Given the description of an element on the screen output the (x, y) to click on. 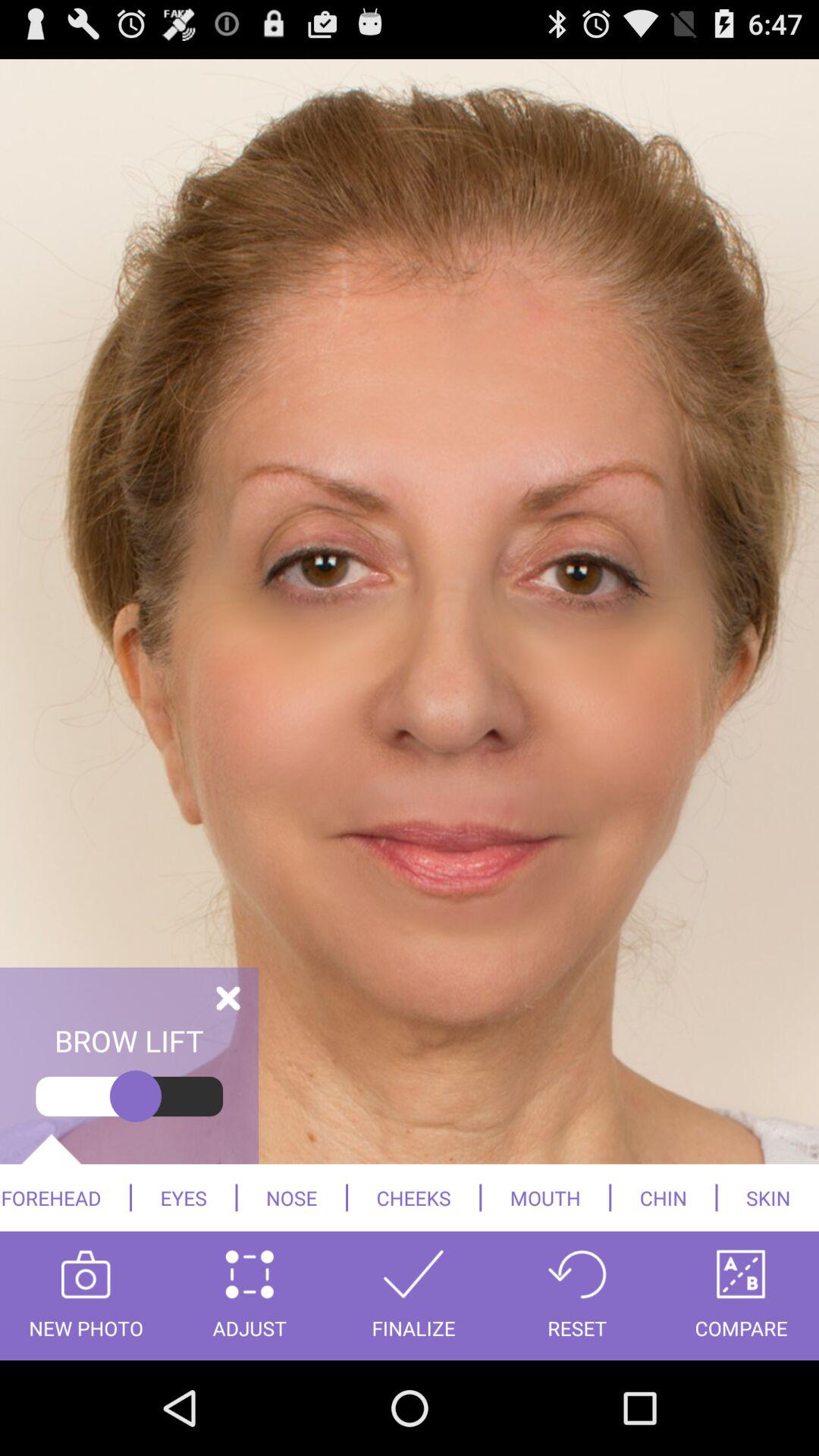
scroll to mouth app (545, 1197)
